Given the description of an element on the screen output the (x, y) to click on. 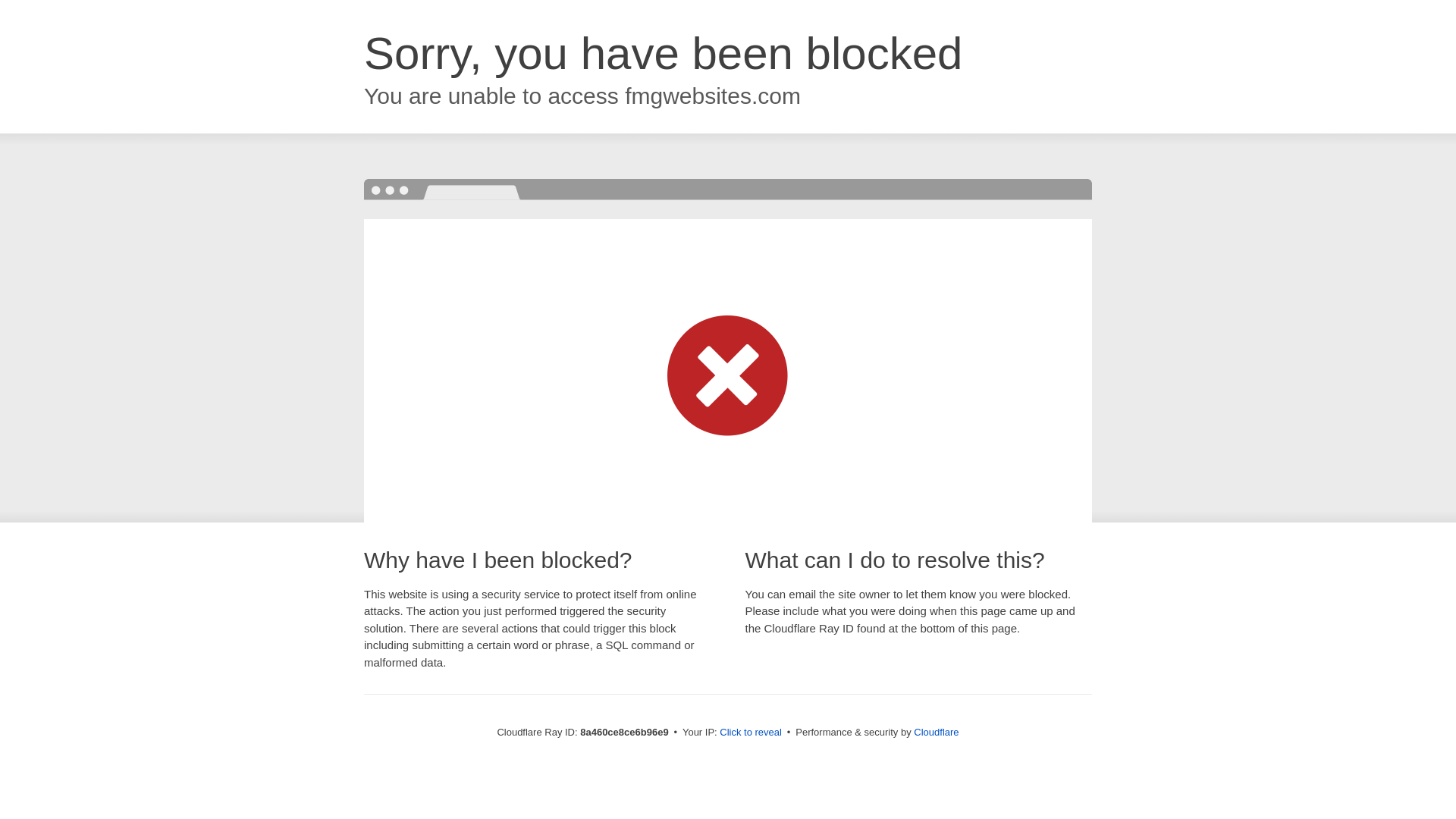
Cloudflare (936, 731)
Click to reveal (750, 732)
